Given the description of an element on the screen output the (x, y) to click on. 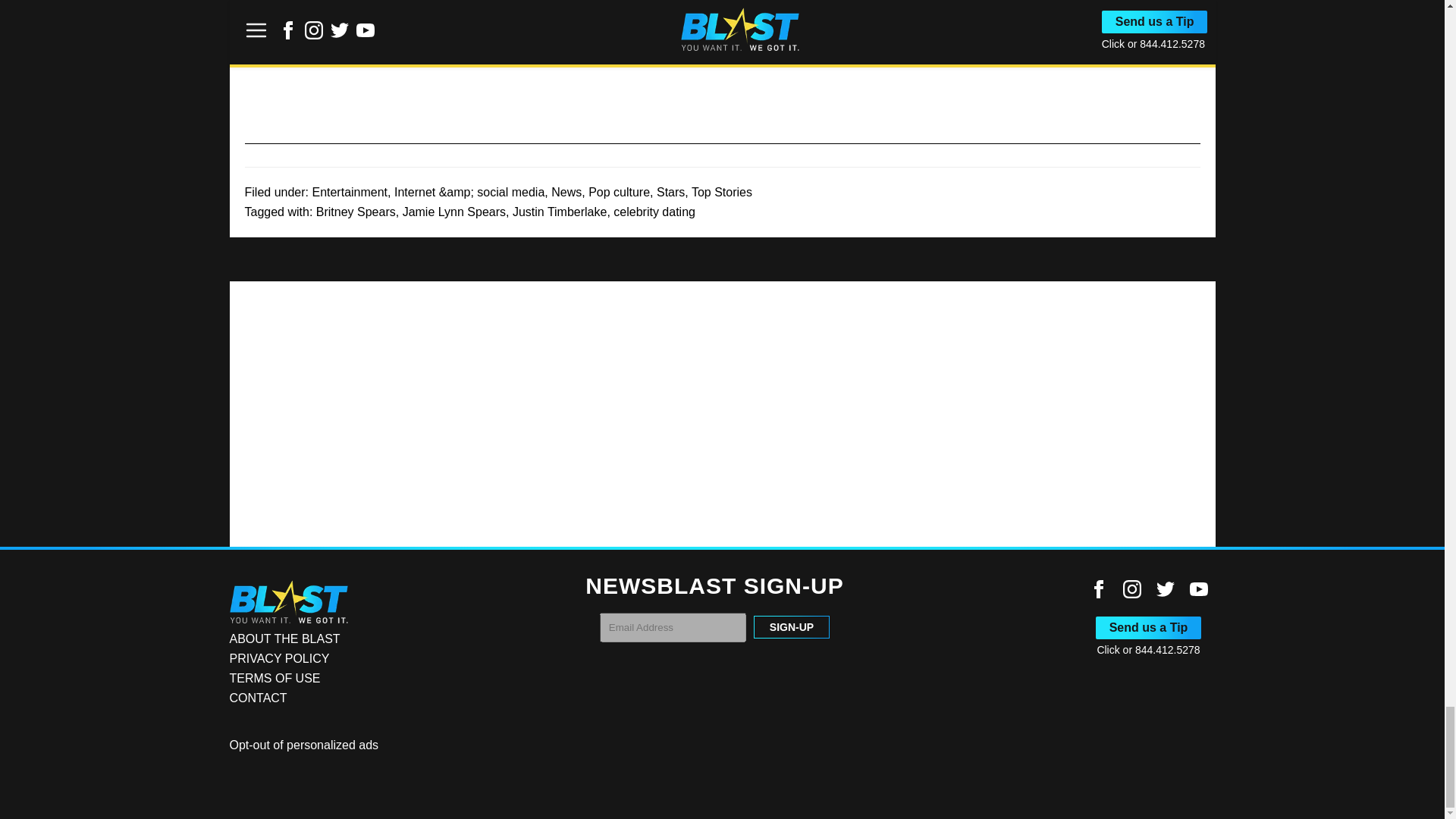
Britney Spears (355, 211)
Stars (670, 192)
SIGN-UP (791, 626)
Justin Timberlake (559, 211)
Entertainment (349, 192)
Link to Twitter (1164, 588)
Top Stories (721, 192)
Link to Instagram (1131, 588)
Link to Facebook (1097, 588)
Link to Youtube (1198, 588)
Pop culture (618, 192)
celebrity dating (653, 211)
Jamie Lynn Spears (454, 211)
News (565, 192)
